Given the description of an element on the screen output the (x, y) to click on. 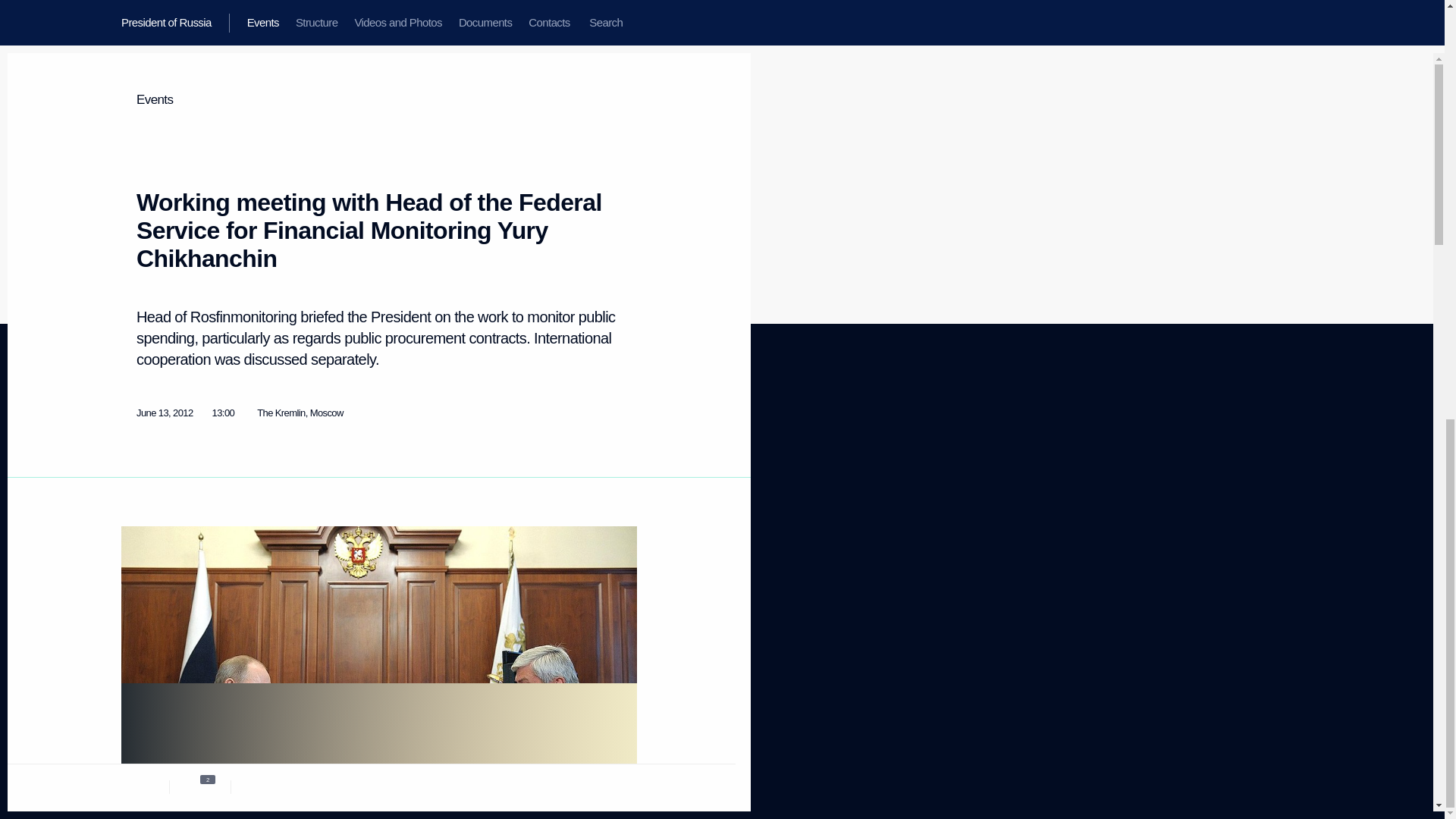
Search (134, 535)
State Insignia (284, 491)
Contact website team (573, 510)
Using website content (574, 460)
Personal data of website users (579, 485)
Videos and Photos (158, 478)
Structure (138, 460)
YouTube Channel (429, 474)
Contacts (138, 516)
Creative Commons Attribution 4.0 International (582, 764)
